Given the description of an element on the screen output the (x, y) to click on. 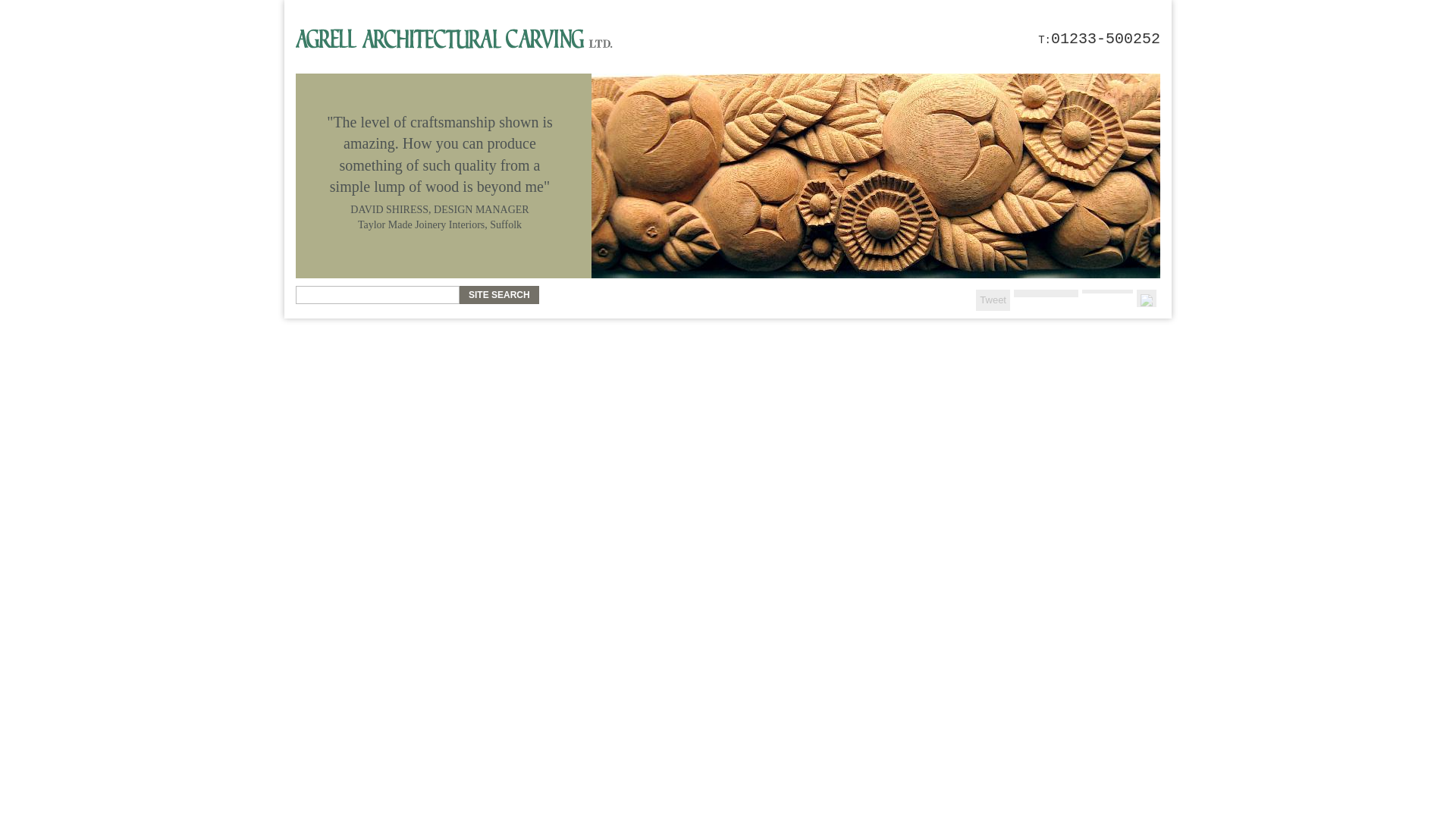
Like us on Facebook (1045, 293)
Site Search (499, 294)
Site Search (499, 294)
Enter the terms you wish to search for. (377, 294)
Tweet (992, 299)
Agrell Carving: Art Deco hand carved panel. (875, 175)
Tweet for Agrell Carving (992, 300)
PinIt (1146, 298)
Home (453, 37)
